Given the description of an element on the screen output the (x, y) to click on. 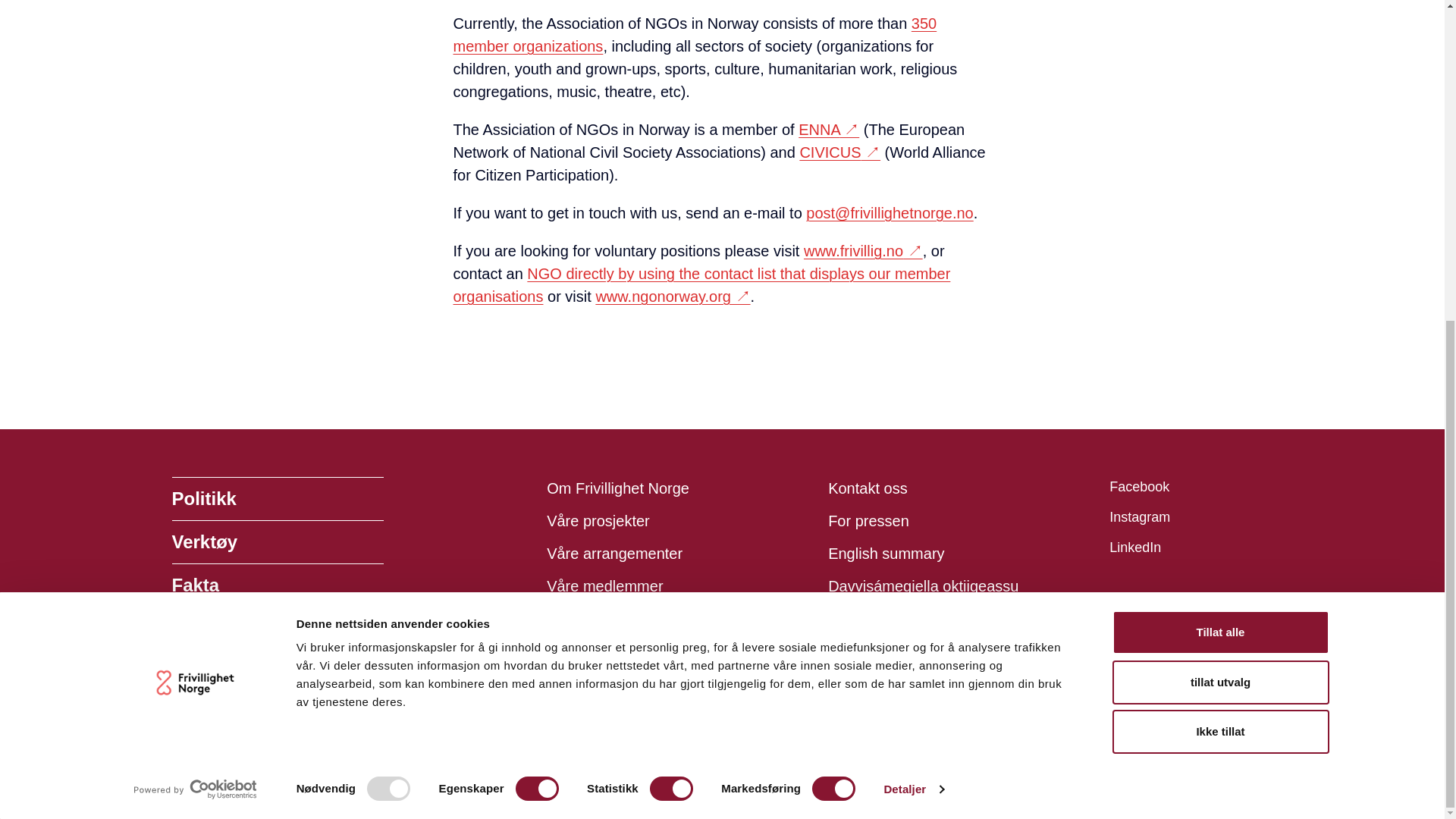
Ikke tillat (1219, 210)
tillat utvalg (1219, 160)
Detaljer (913, 268)
